Given the description of an element on the screen output the (x, y) to click on. 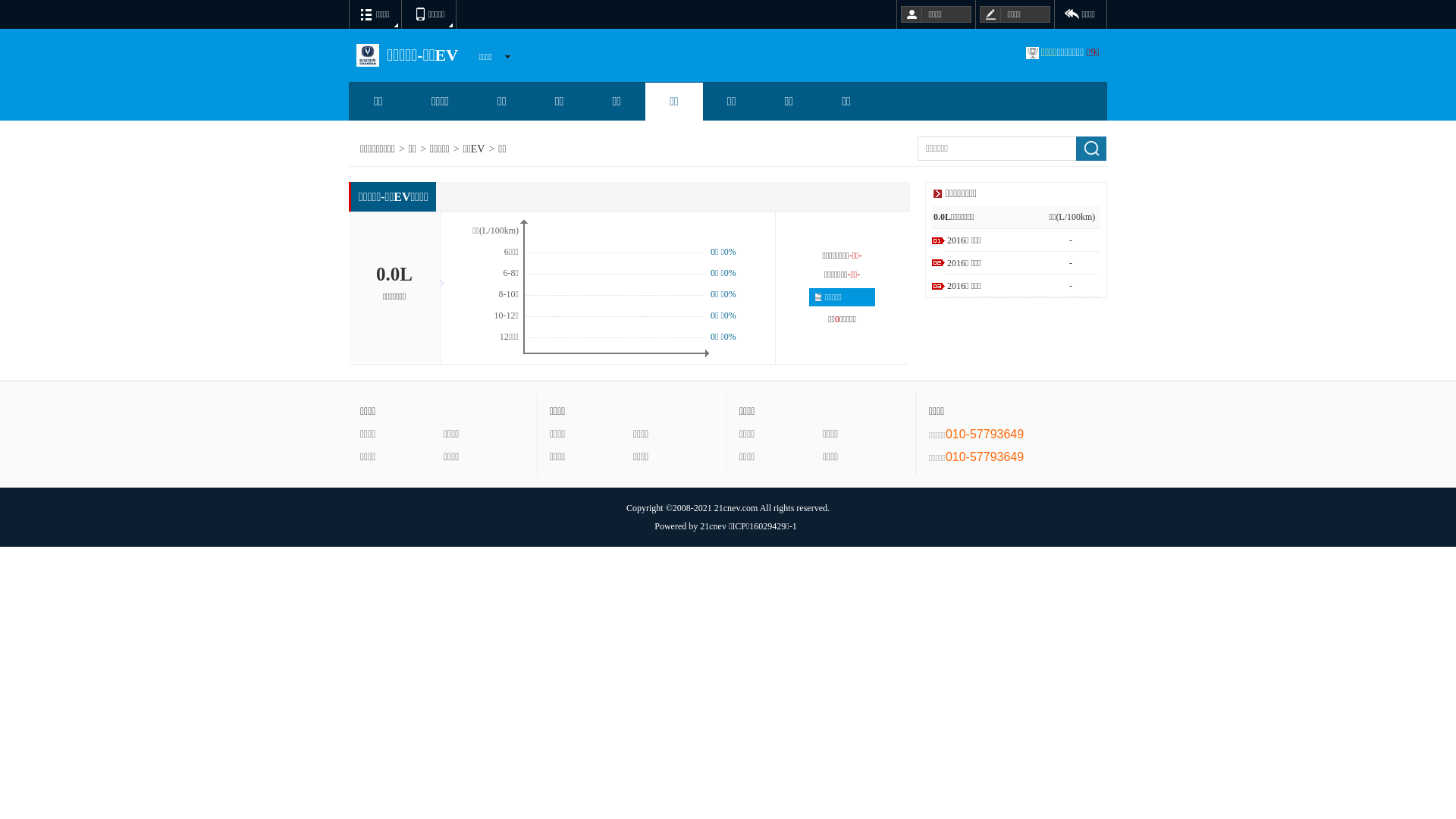
21cnev.com Element type: text (736, 507)
0 Element type: text (26, 28)
